Given the description of an element on the screen output the (x, y) to click on. 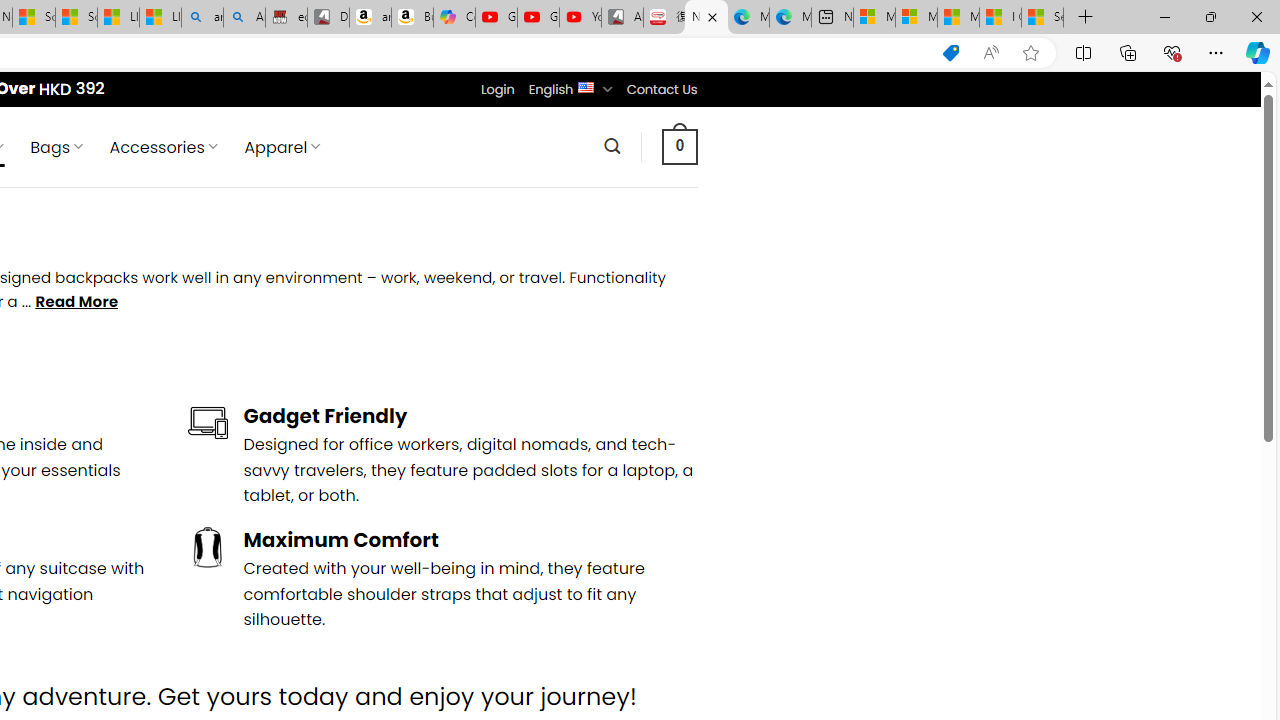
Microsoft account | Privacy (916, 17)
Contact Us (661, 89)
Login (497, 89)
All Cubot phones (621, 17)
I Gained 20 Pounds of Muscle in 30 Days! | Watch (1000, 17)
